Given the description of an element on the screen output the (x, y) to click on. 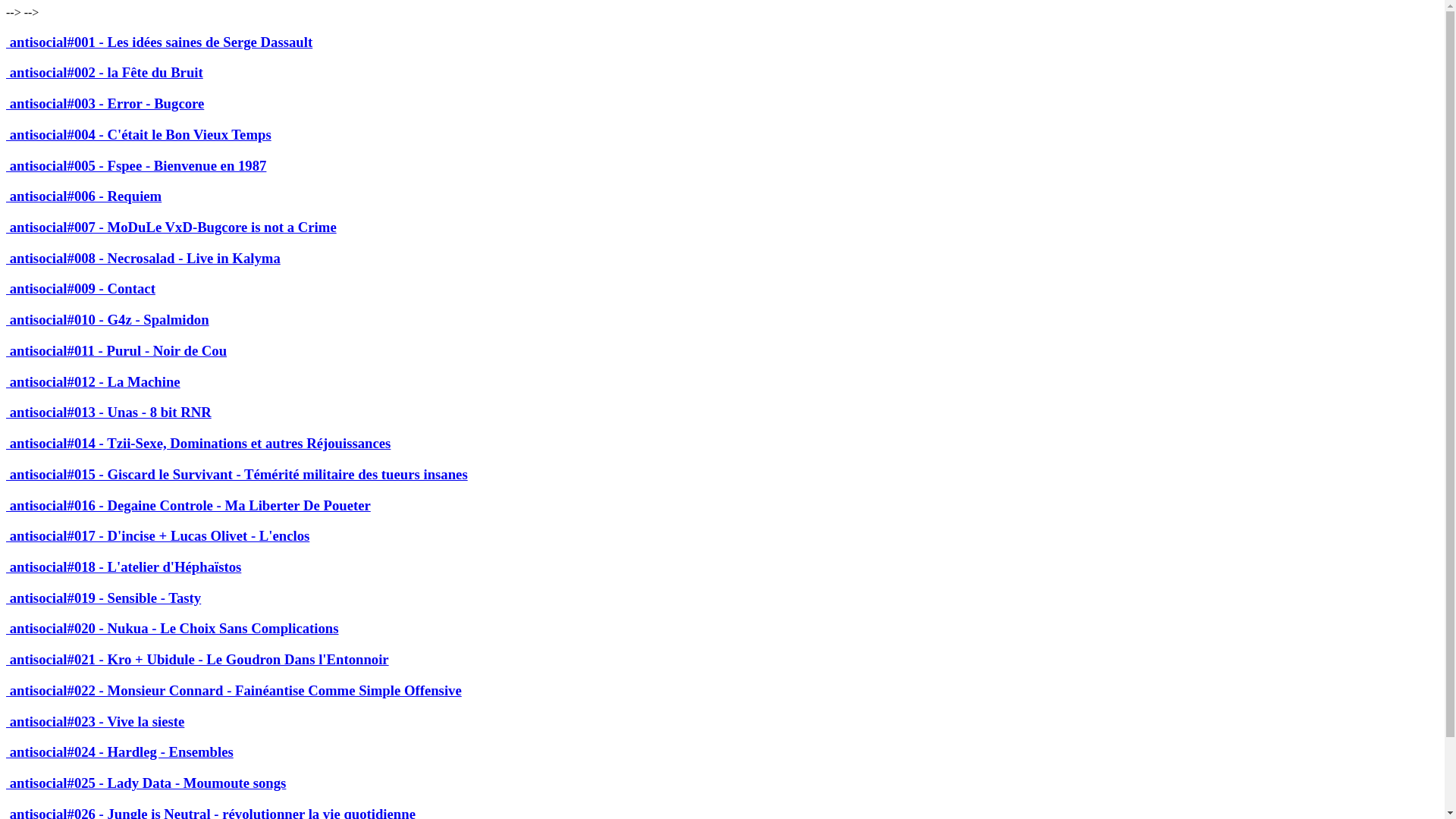
 antisocial#023 - Vive la sieste Element type: text (95, 721)
 antisocial#017 - D'incise + Lucas Olivet - L'enclos Element type: text (157, 535)
 antisocial#012 - La Machine Element type: text (93, 381)
 antisocial#024 - Hardleg - Ensembles Element type: text (119, 751)
 antisocial#006 - Requiem Element type: text (83, 195)
 antisocial#016 - Degaine Controle - Ma Liberter De Poueter Element type: text (188, 505)
 antisocial#010 - G4z - Spalmidon Element type: text (107, 319)
 antisocial#020 - Nukua - Le Choix Sans Complications Element type: text (172, 628)
 antisocial#013 - Unas - 8 bit RNR Element type: text (108, 412)
 antisocial#009 - Contact Element type: text (80, 288)
 antisocial#008 - Necrosalad - Live in Kalyma Element type: text (143, 258)
 antisocial#005 - Fspee - Bienvenue en 1987 Element type: text (136, 165)
 antisocial#007 - MoDuLe VxD-Bugcore is not a Crime Element type: text (171, 227)
 antisocial#003 - Error - Bugcore Element type: text (104, 103)
 antisocial#025 - Lady Data - Moumoute songs Element type: text (145, 782)
 antisocial#011 - Purul - Noir de Cou Element type: text (116, 350)
 antisocial#019 - Sensible - Tasty Element type: text (103, 597)
